Given the description of an element on the screen output the (x, y) to click on. 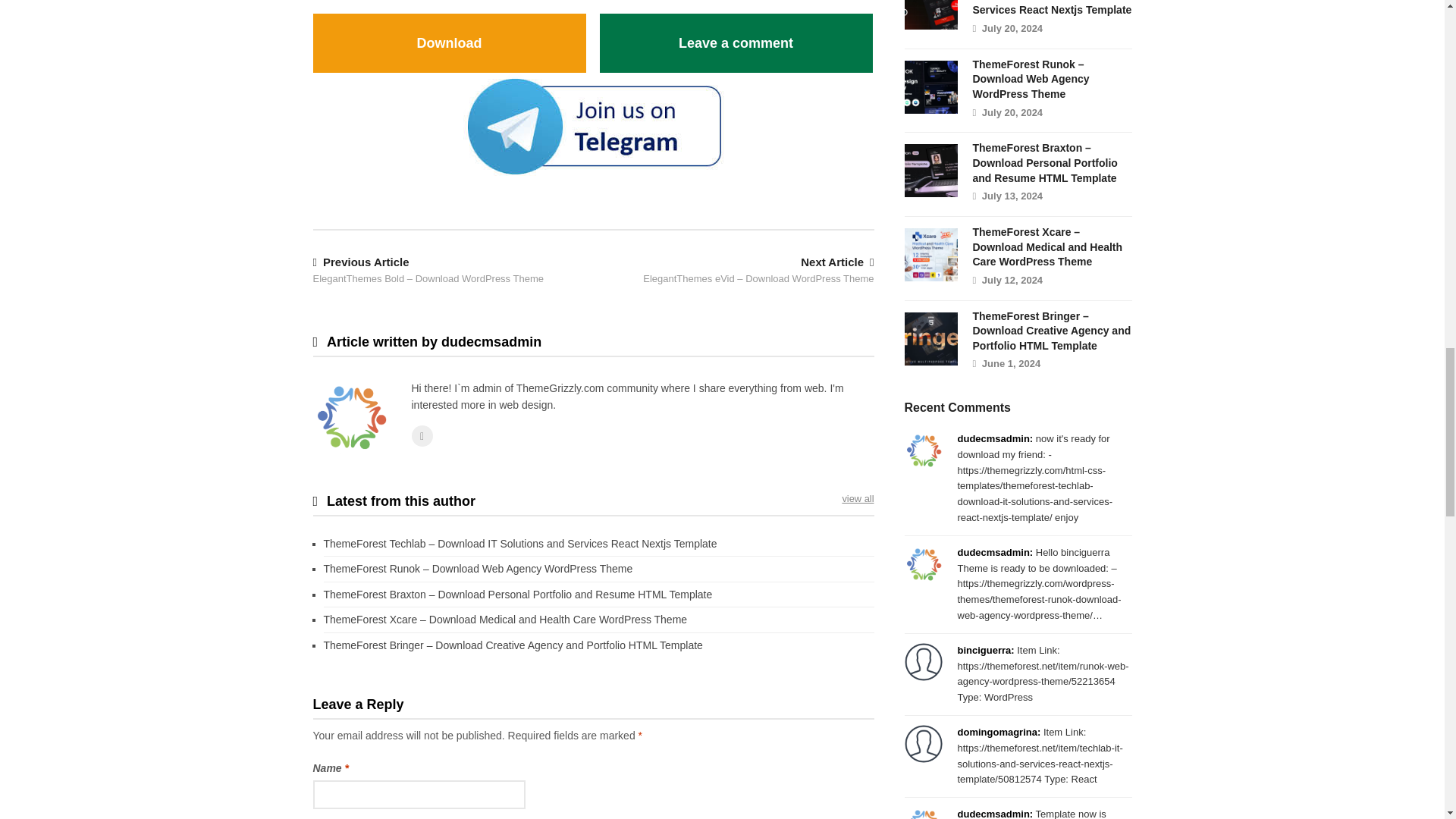
dudecmsadmin (421, 435)
Visit Author Page (350, 417)
view all (857, 499)
